Given the description of an element on the screen output the (x, y) to click on. 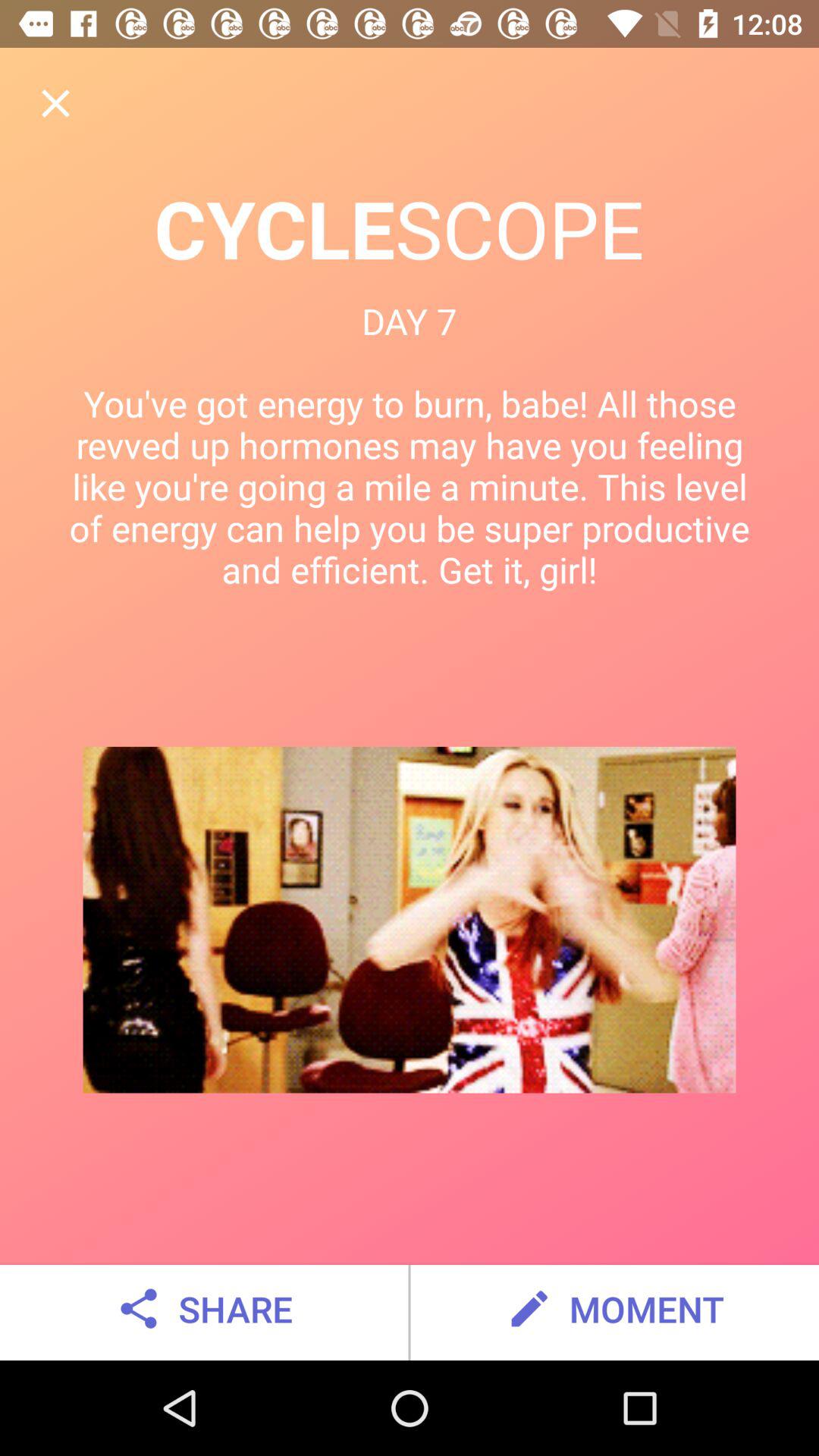
toggle autoplay option switch autoplay option (55, 103)
